Given the description of an element on the screen output the (x, y) to click on. 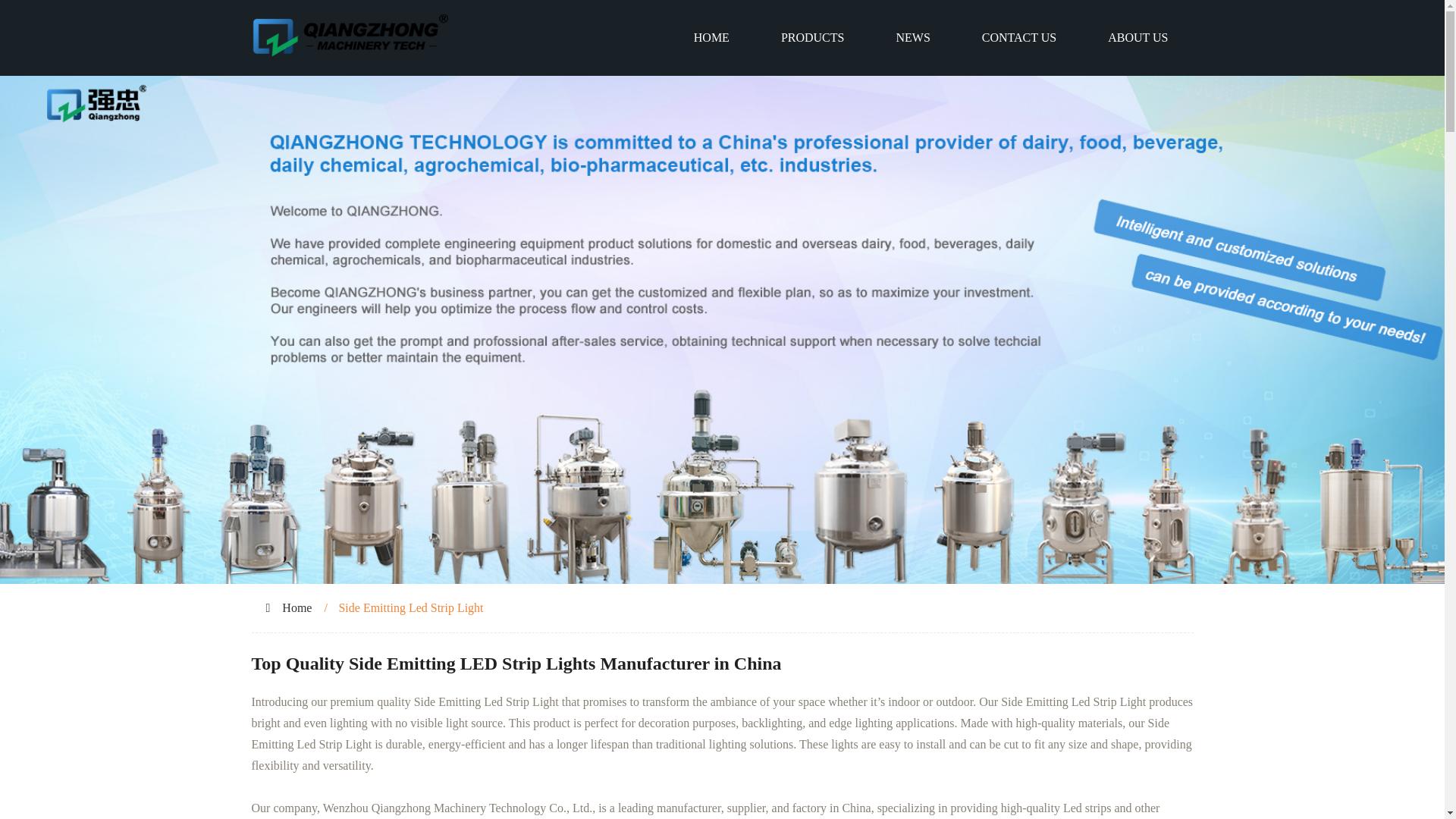
PRODUCTS (812, 38)
Home (296, 607)
CONTACT US (1018, 38)
